Given the description of an element on the screen output the (x, y) to click on. 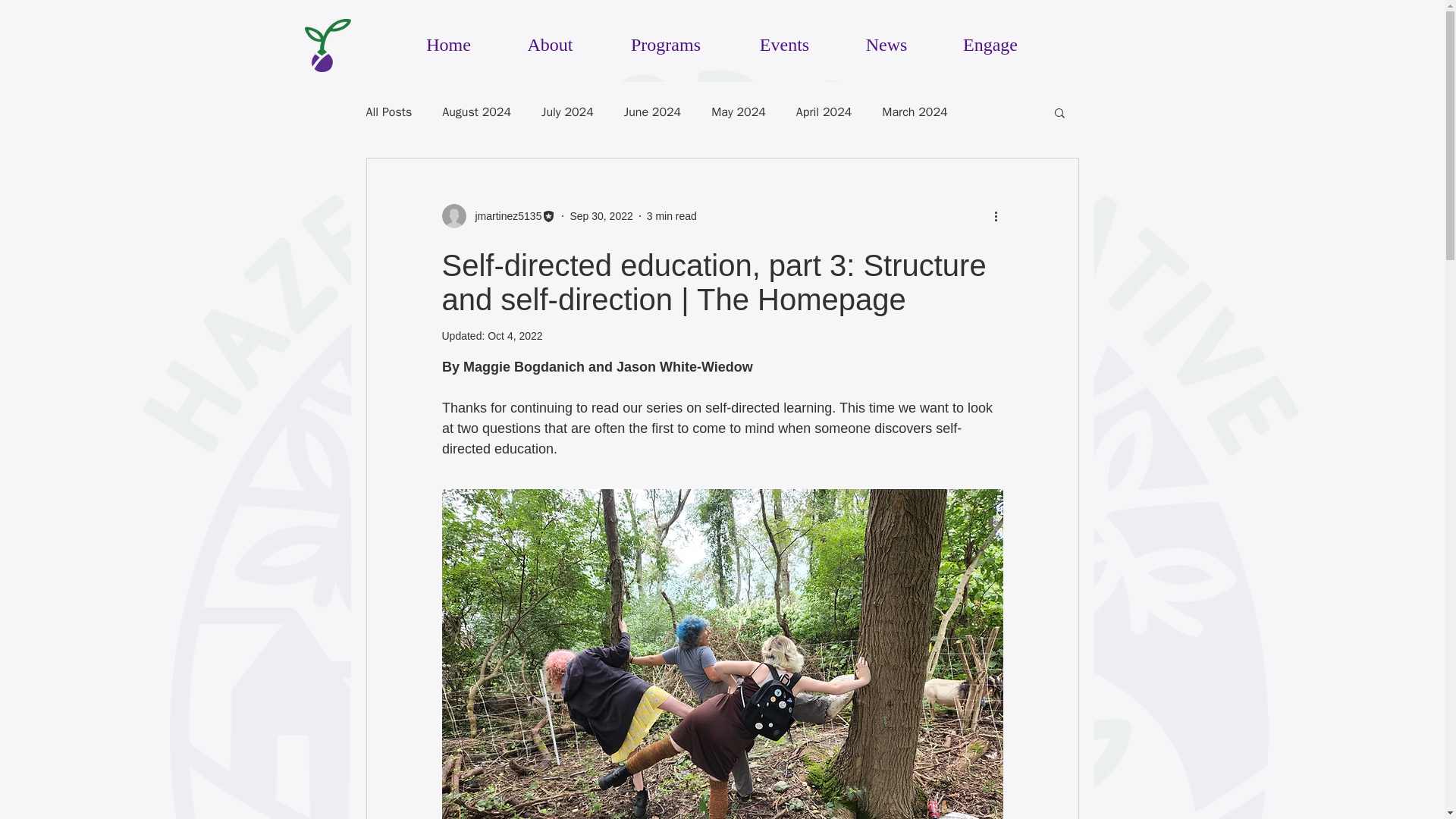
August 2024 (476, 112)
All Posts (388, 112)
Oct 4, 2022 (514, 336)
jmartinez5135 (503, 215)
3 min read (671, 215)
July 2024 (567, 112)
Programs (664, 38)
Events (784, 38)
Sep 30, 2022 (600, 215)
Engage (989, 38)
